Given the description of an element on the screen output the (x, y) to click on. 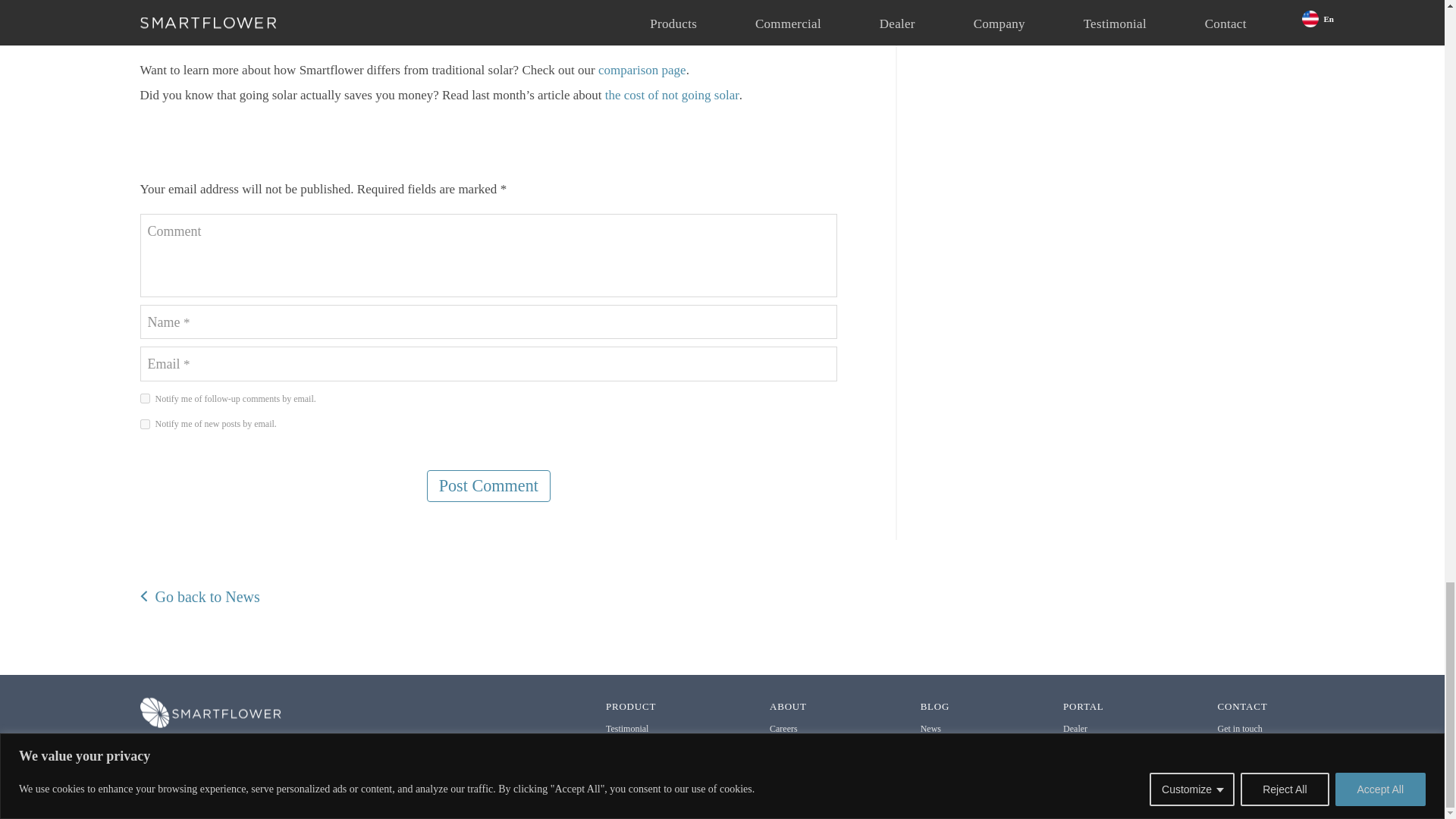
click here to Email Us (190, 747)
Created with Sketch. (1222, 751)
the cost of not going solar (672, 94)
subscribe (144, 424)
Created with Sketch. (1240, 751)
Post Comment (488, 486)
comparison page (641, 69)
Created with Sketch. (1258, 751)
subscribe (144, 398)
Post Comment (488, 486)
click to view Smartflower Facebook page (1222, 751)
Created with Sketch. (1276, 751)
